Given the description of an element on the screen output the (x, y) to click on. 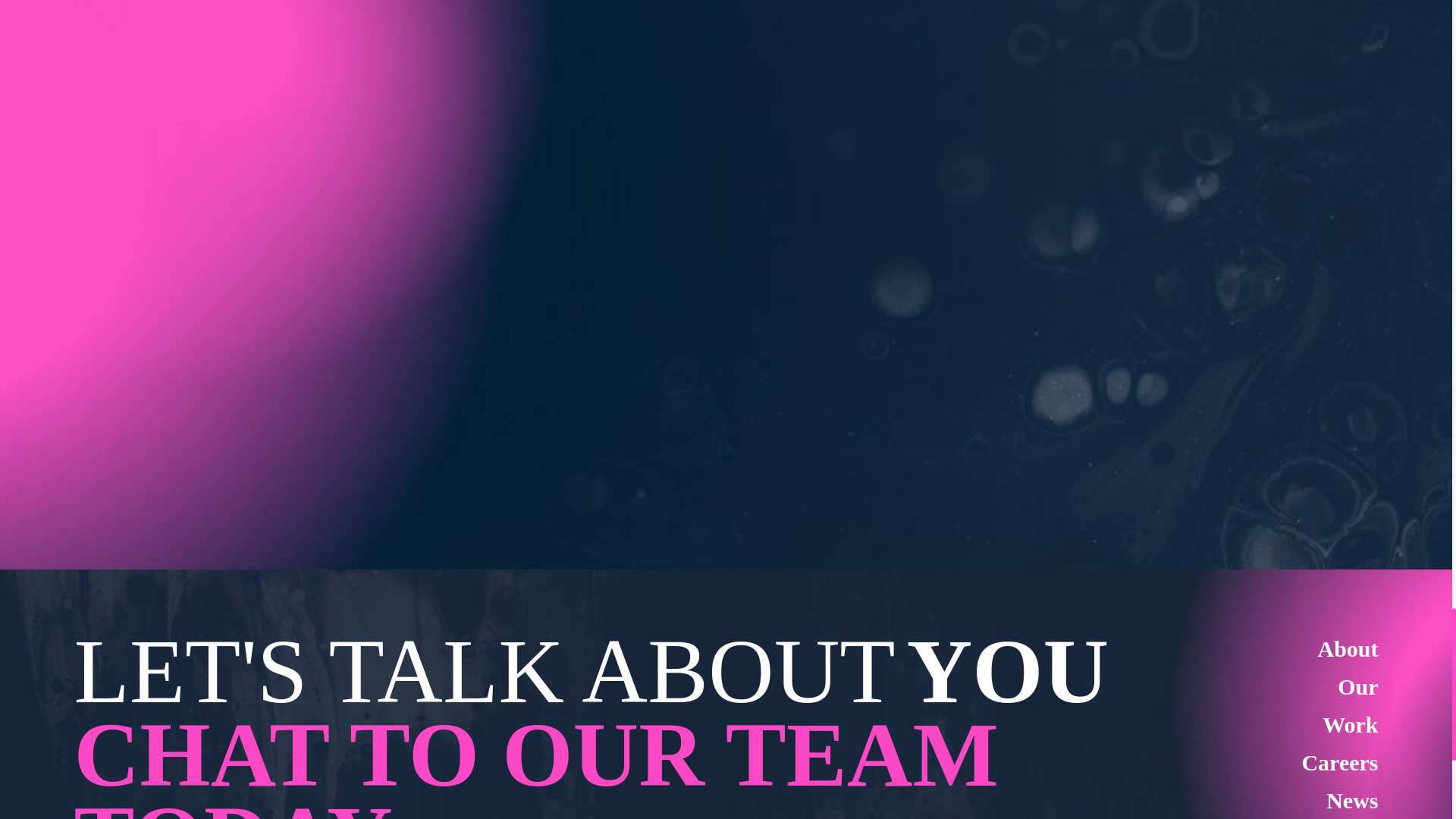
About (1347, 648)
Careers (1339, 762)
News (1351, 800)
